Given the description of an element on the screen output the (x, y) to click on. 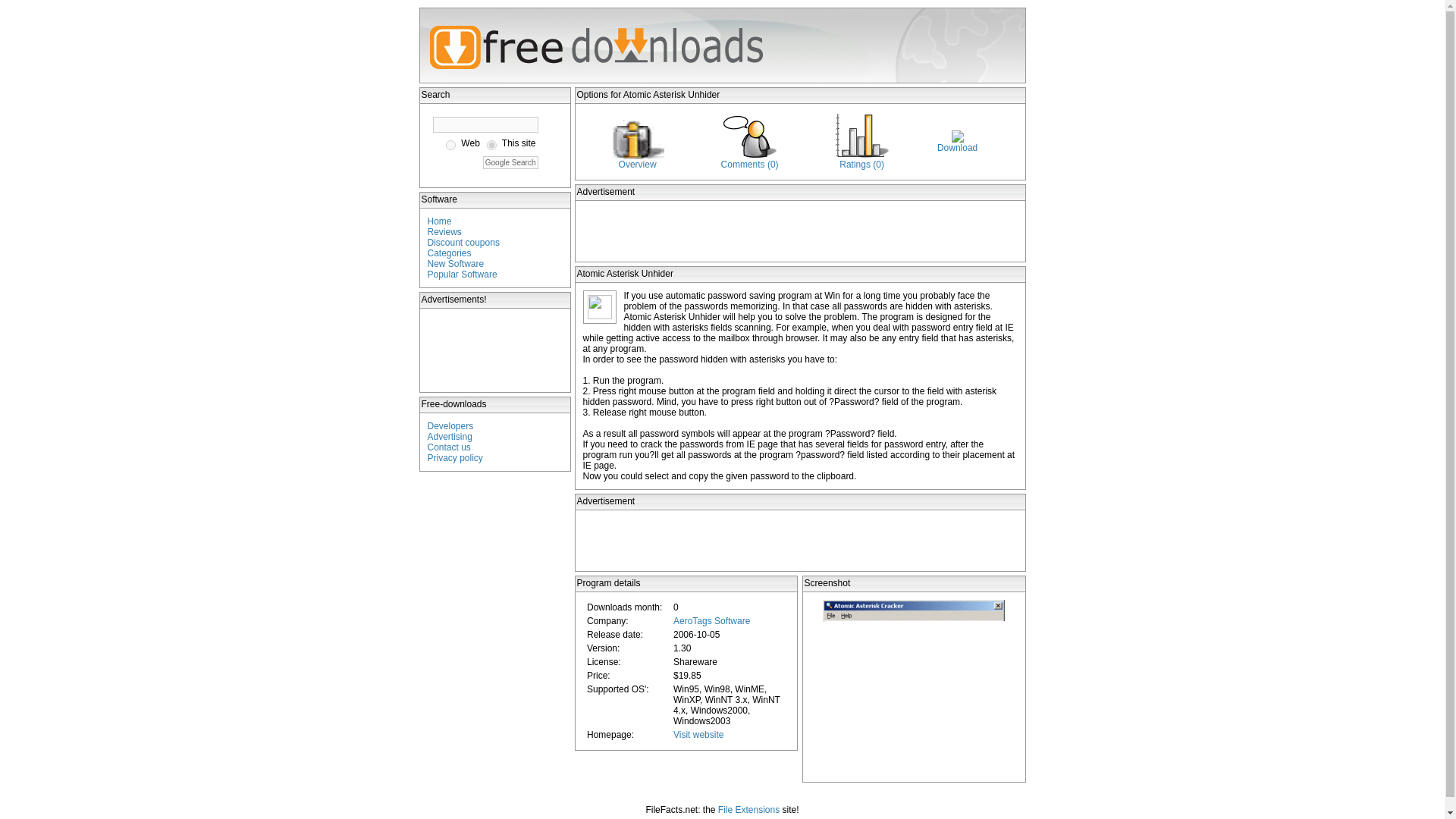
www.free-downloads.net (491, 144)
Popular Software (462, 274)
Visit website (697, 734)
Google Search (510, 162)
Reviews (444, 231)
Home (439, 221)
Download (956, 147)
Privacy policy (455, 457)
Developers (451, 425)
Discount coupons (463, 242)
